Given the description of an element on the screen output the (x, y) to click on. 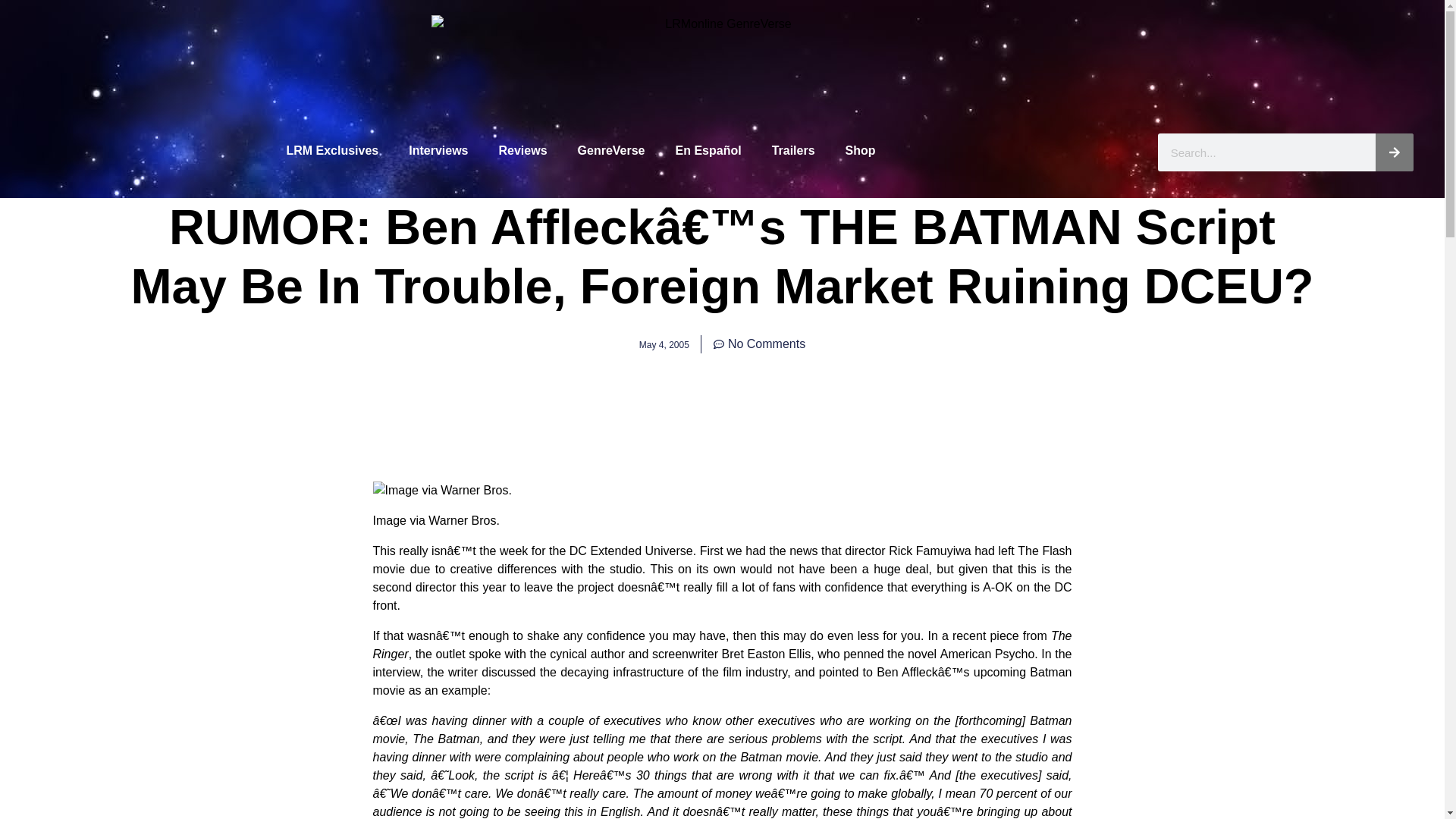
Interviews (438, 150)
The Ringer (721, 644)
Trailers (793, 150)
Reviews (522, 150)
LRM Exclusives (331, 150)
May 4, 2005 (663, 343)
GenreVerse (611, 150)
No Comments (759, 343)
Shop (860, 150)
